Given the description of an element on the screen output the (x, y) to click on. 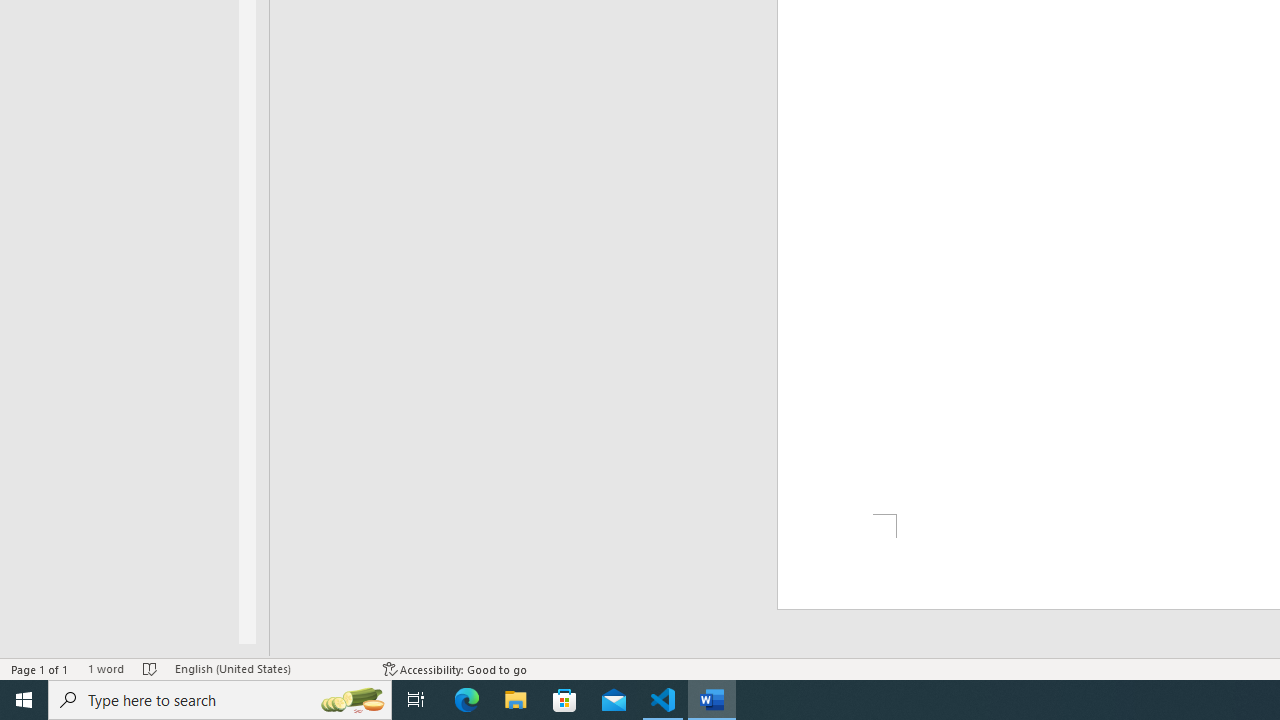
Accessibility Checker Accessibility: Good to go (455, 668)
Spelling and Grammar Check No Errors (150, 668)
Page Number Page 1 of 1 (39, 668)
Language English (United States) (269, 668)
